Given the description of an element on the screen output the (x, y) to click on. 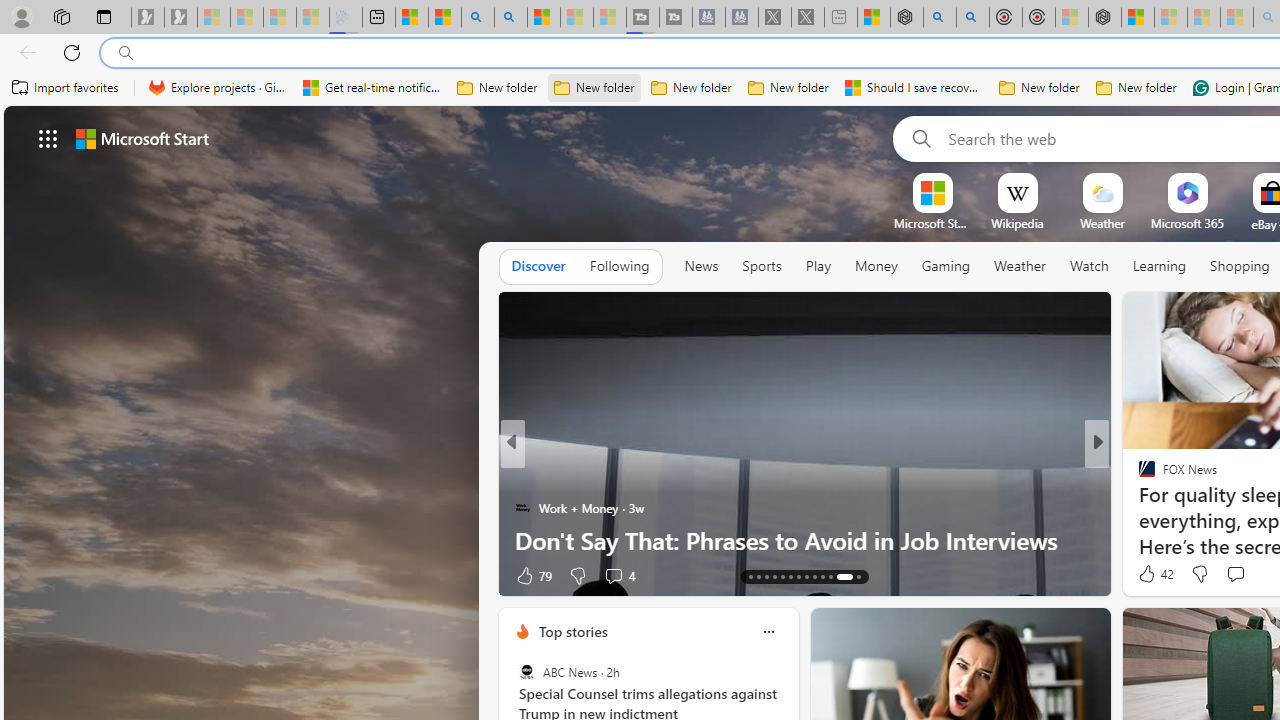
AutomationID: tab-19 (797, 576)
AutomationID: tab-13 (750, 576)
Search icon (125, 53)
View comments 2 Comment (11, 575)
